Given the description of an element on the screen output the (x, y) to click on. 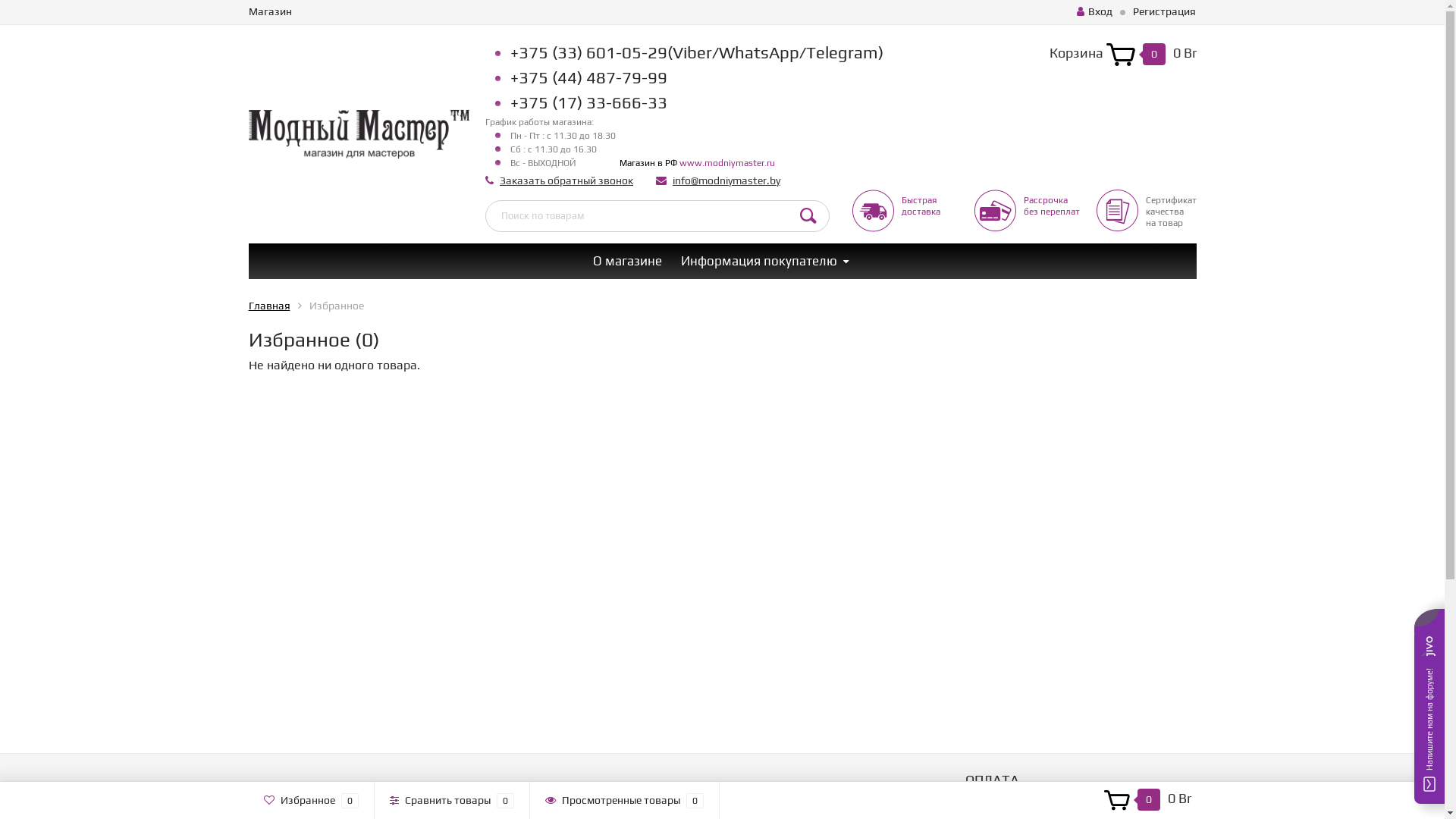
www.modniymaster.ru Element type: text (727, 162)
0 0 Br Element type: text (1146, 799)
info@modniymaster.by Element type: text (726, 180)
